Given the description of an element on the screen output the (x, y) to click on. 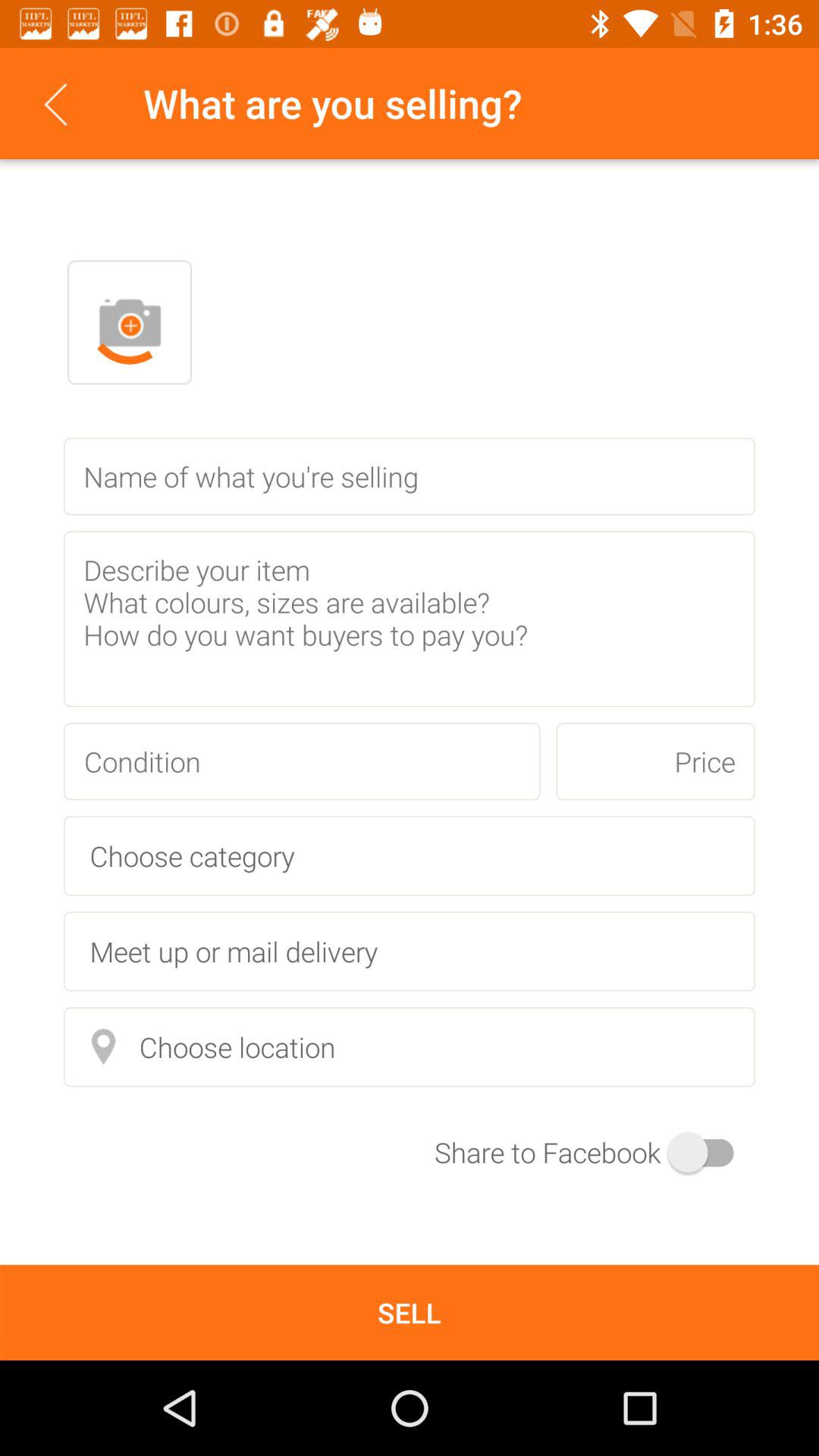
scroll to the choose category item (409, 855)
